Given the description of an element on the screen output the (x, y) to click on. 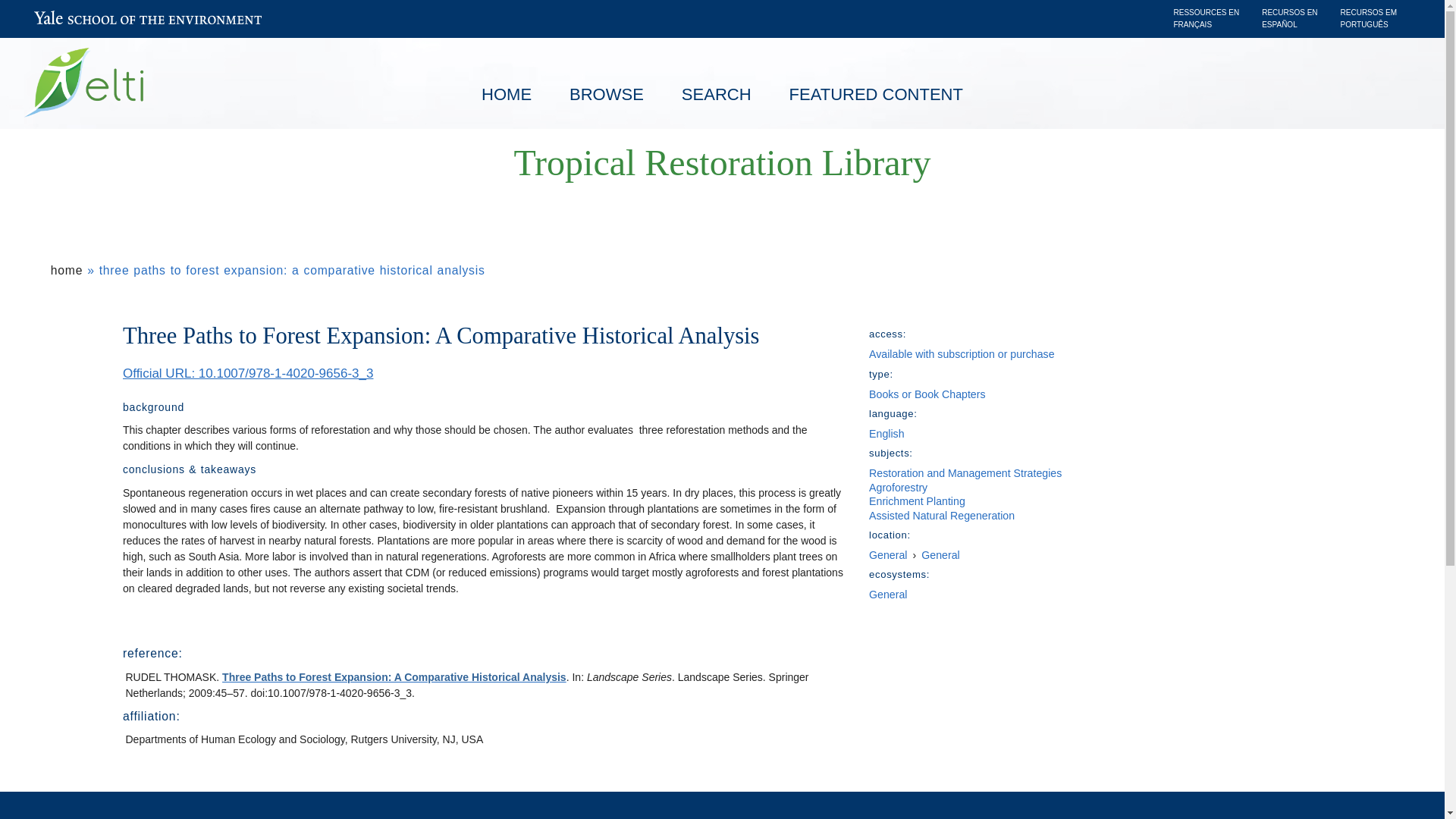
Agroforestry (898, 487)
General (888, 554)
home (66, 269)
HOME (506, 94)
Restoration and Management Strategies (965, 472)
English (886, 433)
Assisted Natural Regeneration (941, 515)
SEARCH (716, 94)
Available with subscription or purchase (961, 354)
FEATURED CONTENT (875, 94)
Enrichment Planting (917, 500)
BROWSE (606, 94)
Yale School of the Environment (147, 21)
General (940, 554)
